Given the description of an element on the screen output the (x, y) to click on. 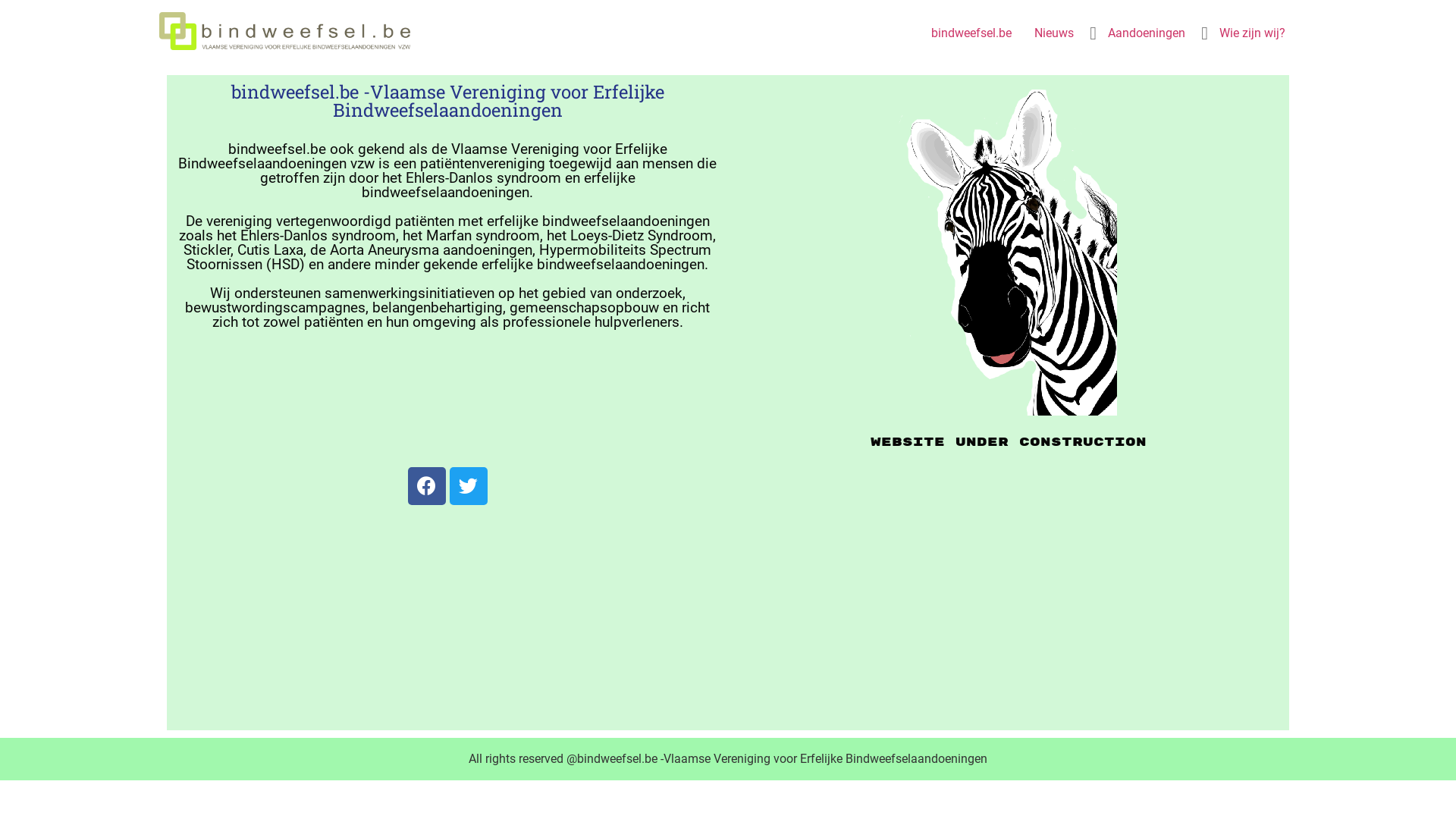
Wie zijn wij? Element type: text (1252, 33)
Aandoeningen Element type: text (1146, 33)
Nieuws Element type: text (1053, 33)
bindweefsel.be Element type: text (970, 33)
